Given the description of an element on the screen output the (x, y) to click on. 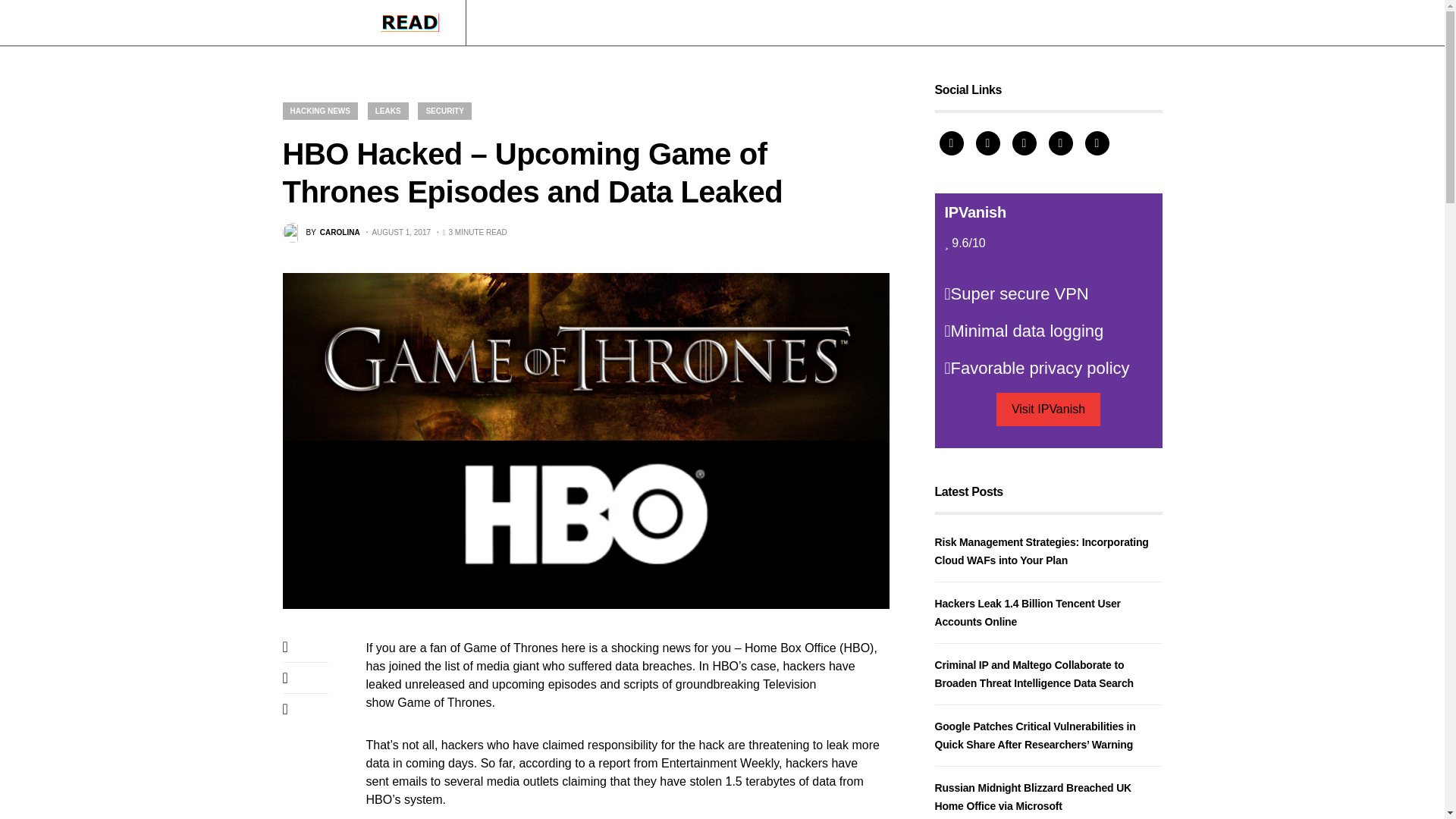
Technology (597, 22)
View all posts by Carolina (320, 232)
Hacking News (518, 22)
